Given the description of an element on the screen output the (x, y) to click on. 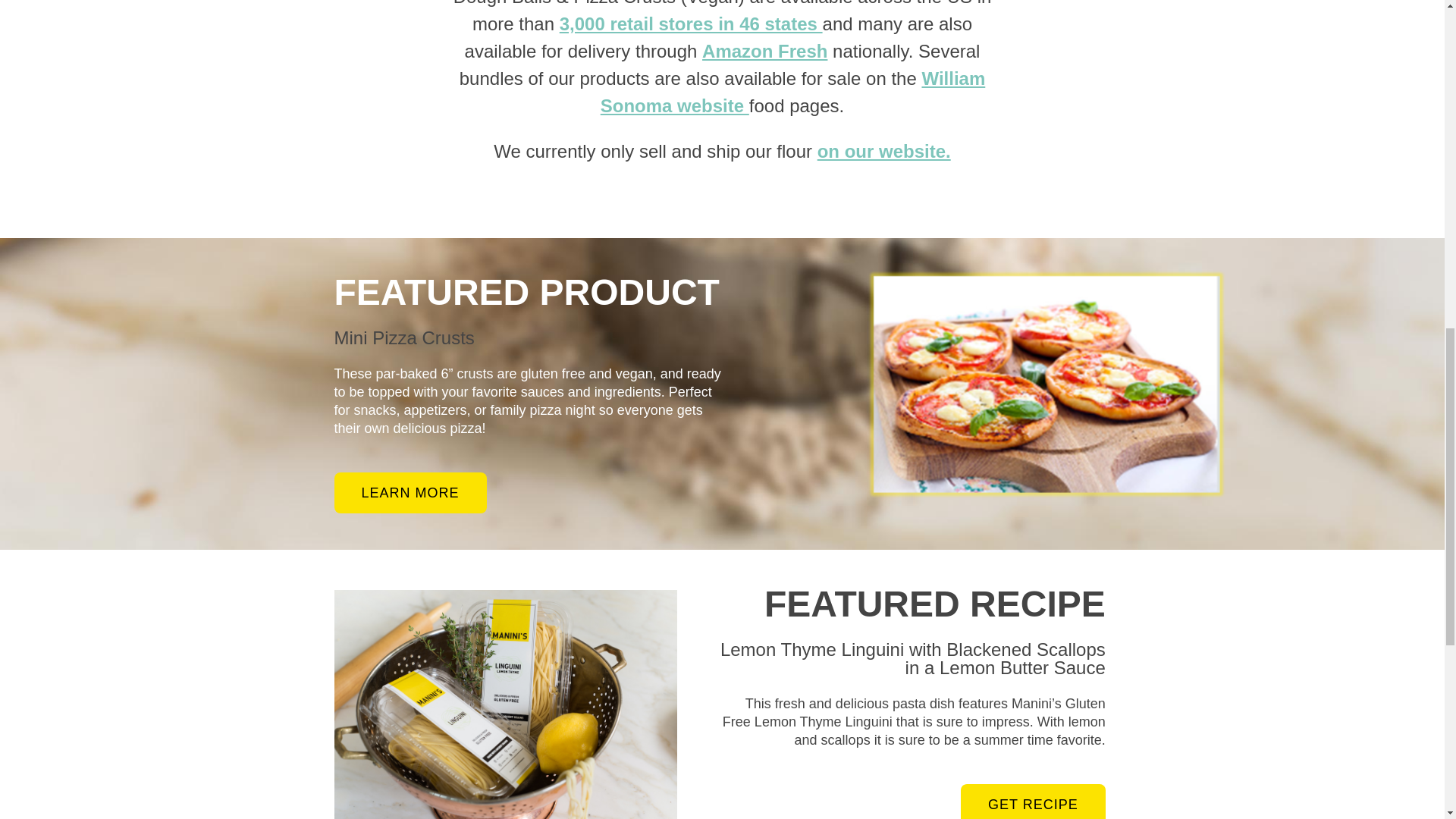
GET RECIPE (1032, 801)
William Sonoma website (792, 91)
LEARN MORE (409, 492)
3,000 retail stores in 46 states (690, 23)
on our website. (883, 150)
Amazon Fresh (764, 50)
